Given the description of an element on the screen output the (x, y) to click on. 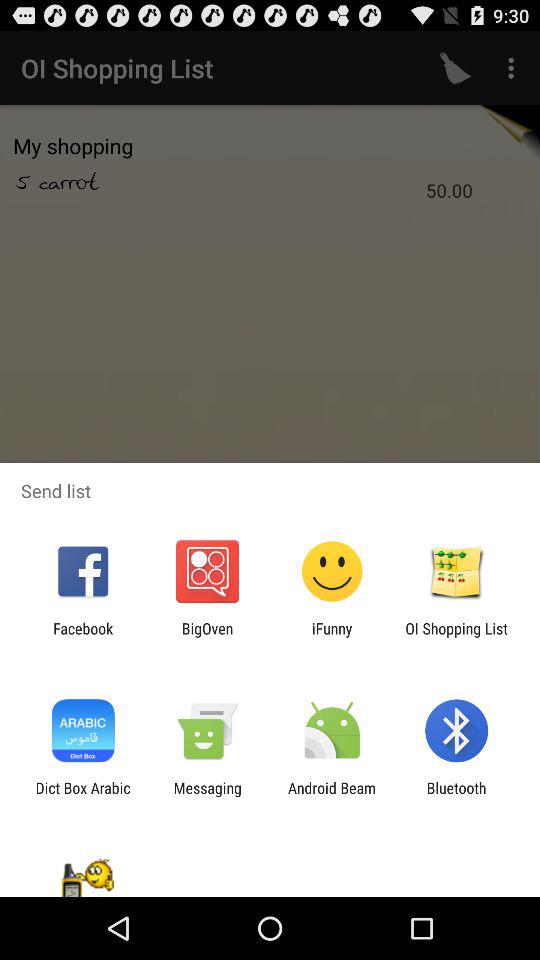
tap icon to the left of oi shopping list icon (332, 637)
